Given the description of an element on the screen output the (x, y) to click on. 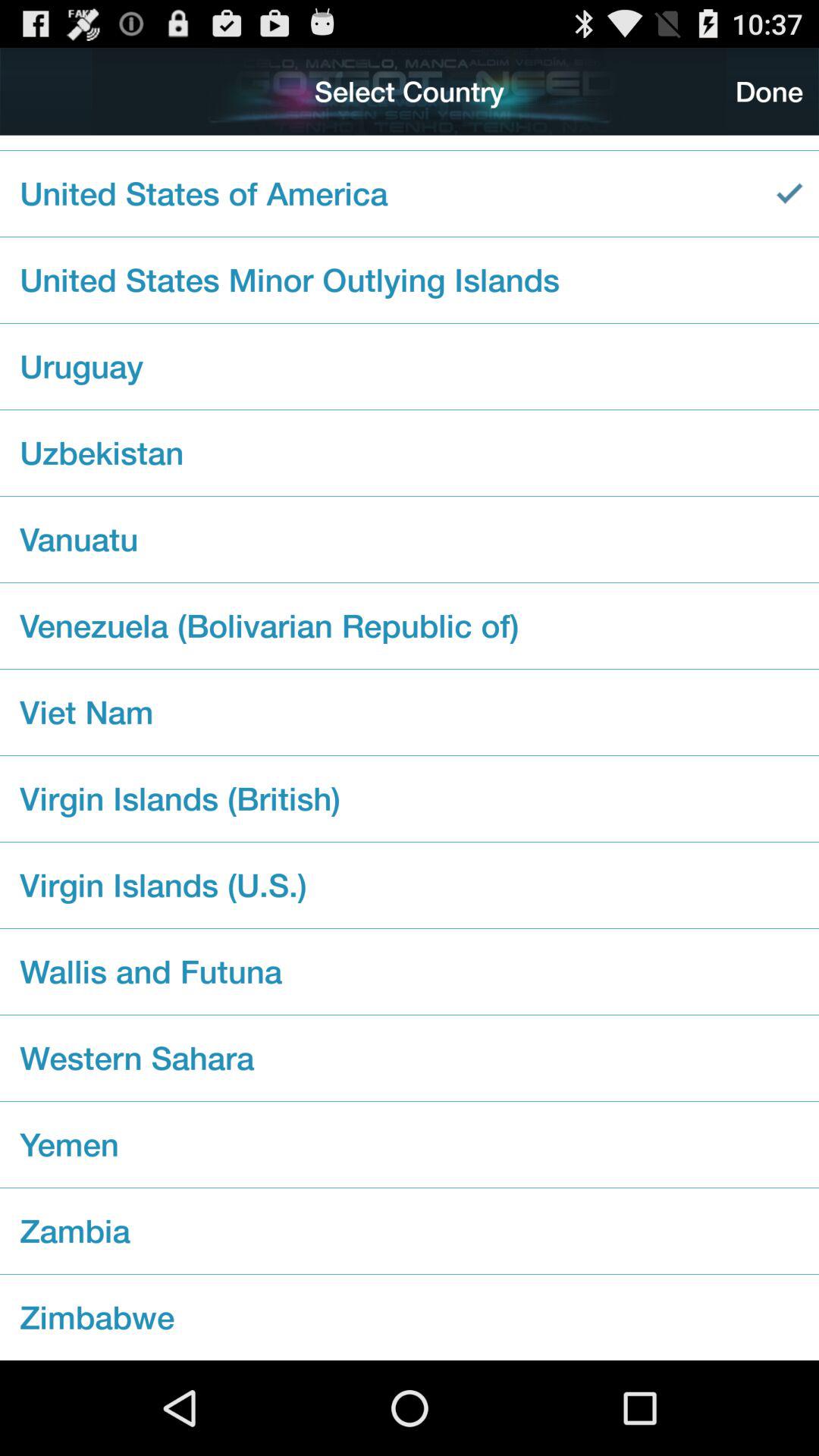
select the checkbox below the uzbekistan item (409, 539)
